Given the description of an element on the screen output the (x, y) to click on. 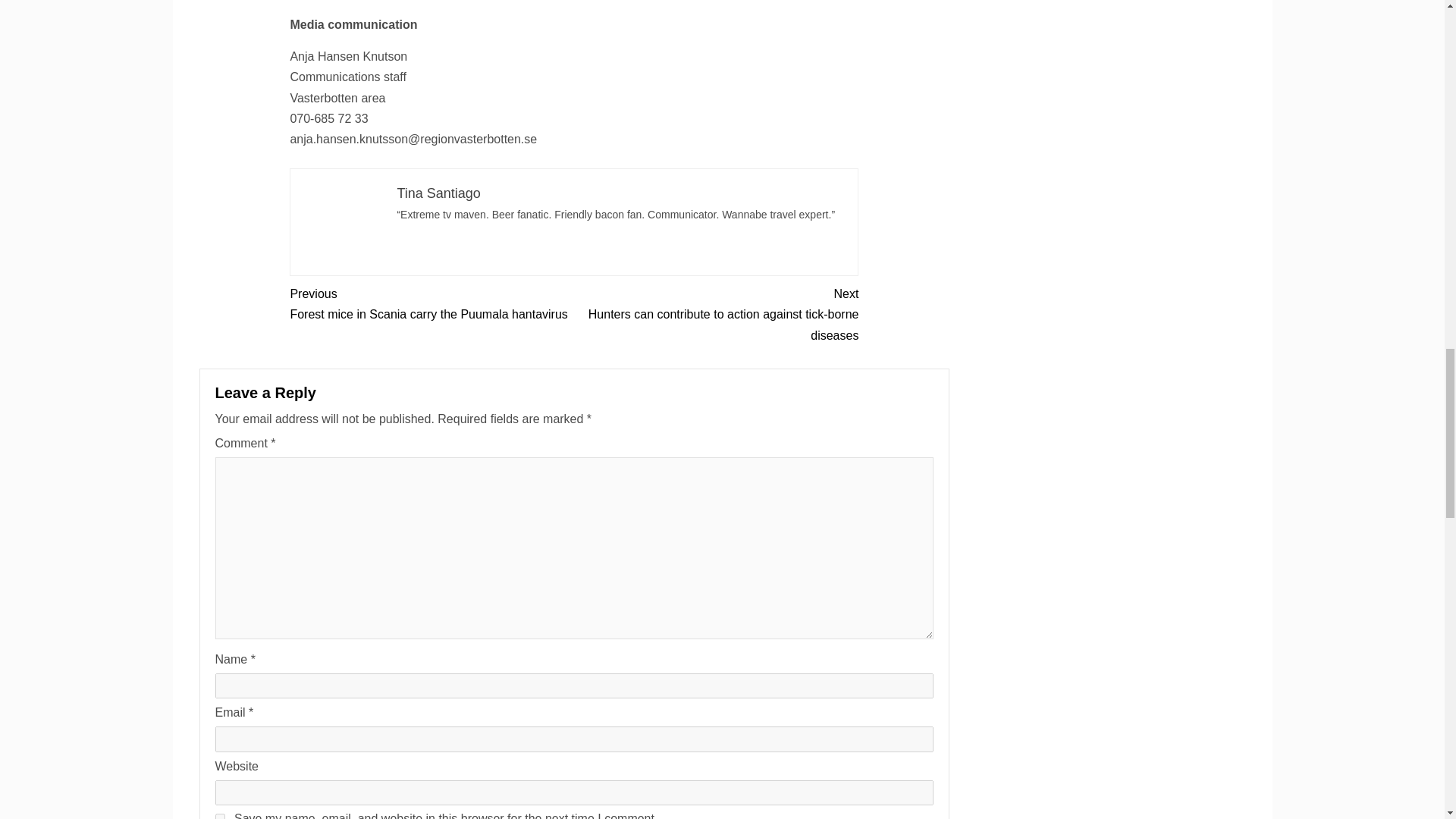
Tina Santiago (431, 303)
yes (438, 192)
